Given the description of an element on the screen output the (x, y) to click on. 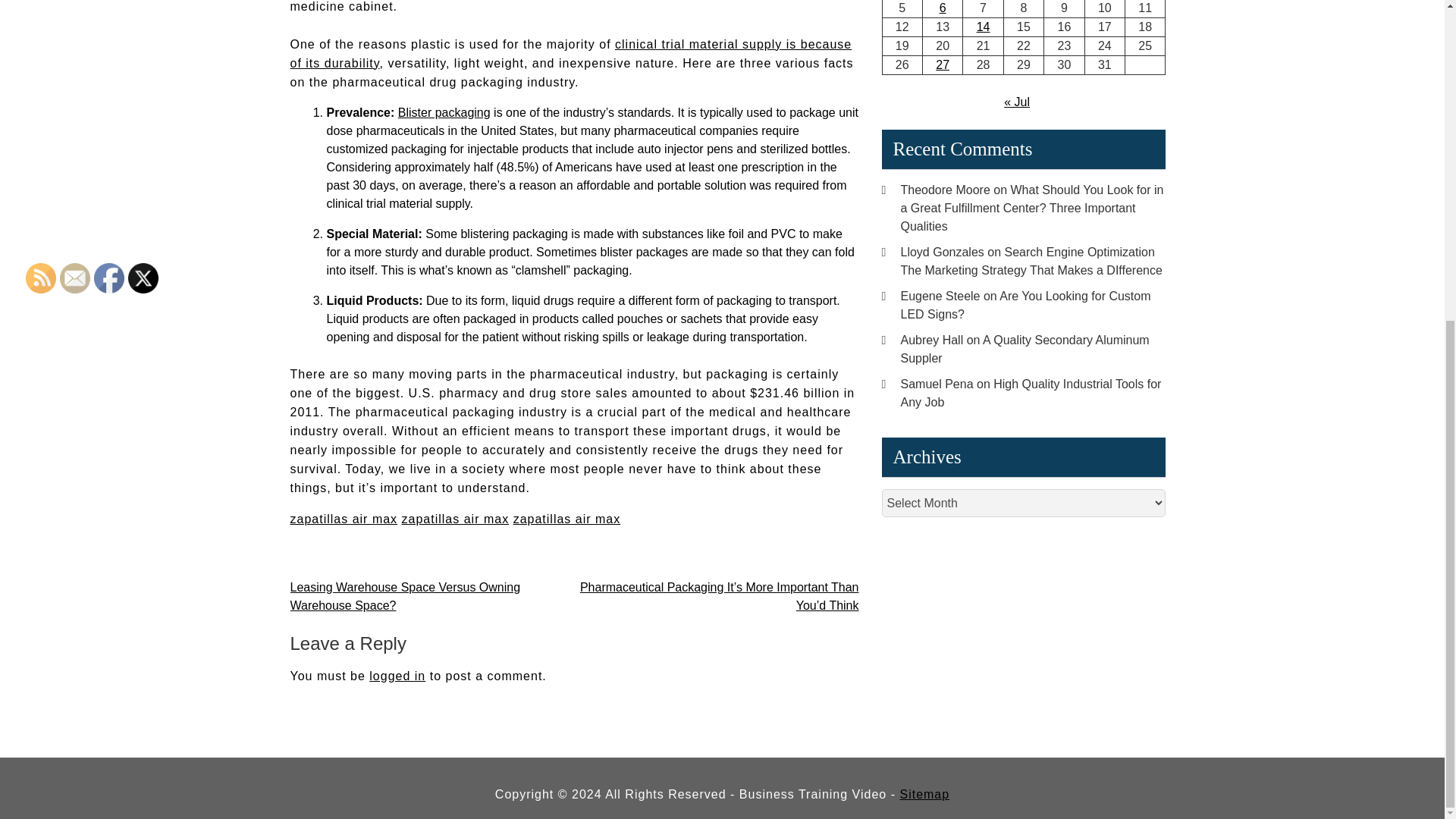
Samuel Pena (937, 383)
Leasing Warehouse Space Versus Owning Warehouse Space? (404, 595)
Sitemap (924, 793)
RSS (41, 277)
zapatillas air max (343, 518)
Are You Looking for Custom LED Signs? (1026, 305)
Blister packaging (443, 112)
logged in (397, 675)
